Given the description of an element on the screen output the (x, y) to click on. 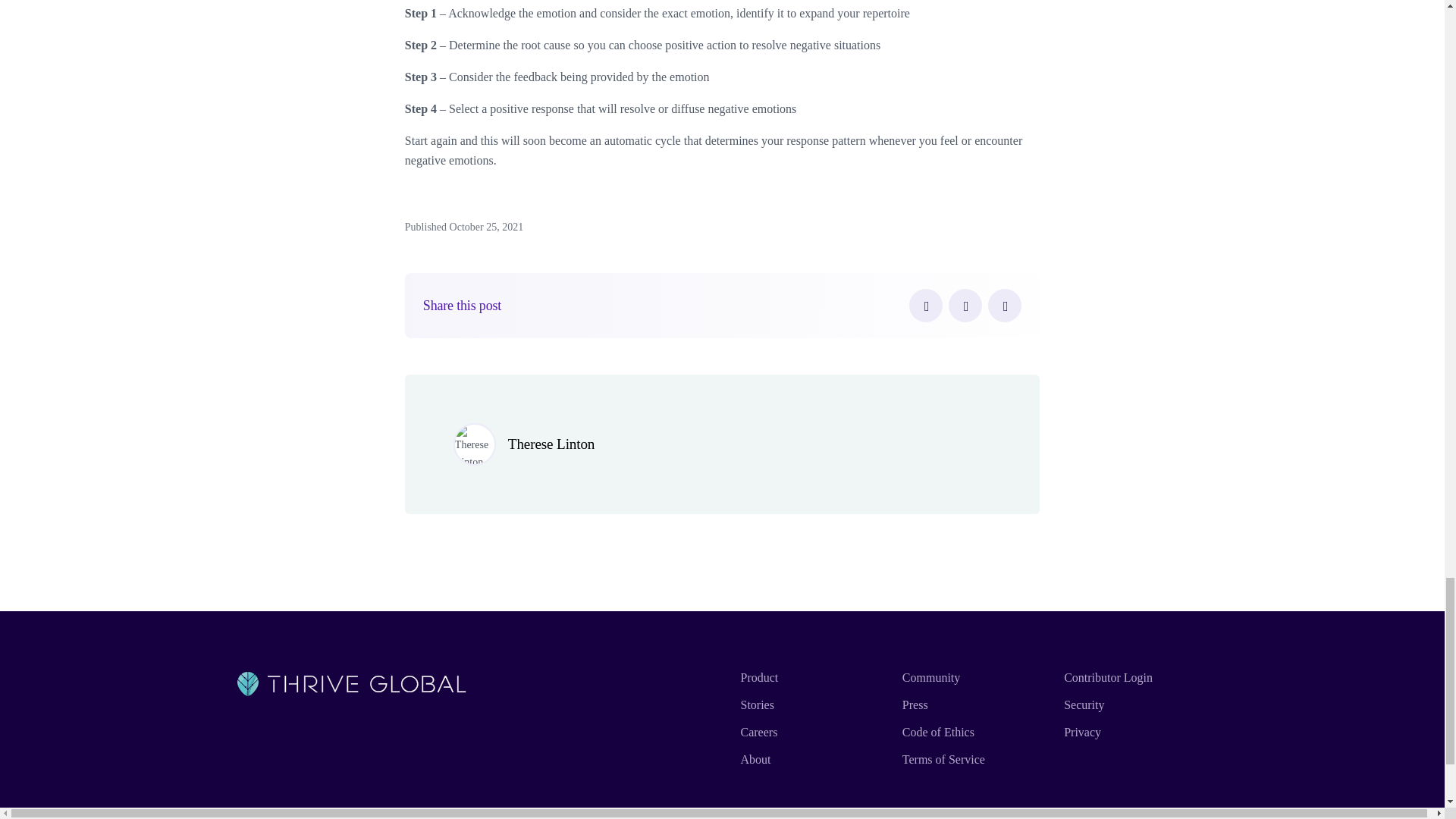
LinkedIn (1005, 305)
Therese Linton (551, 443)
Twitter (965, 305)
Facebook (925, 305)
